Given the description of an element on the screen output the (x, y) to click on. 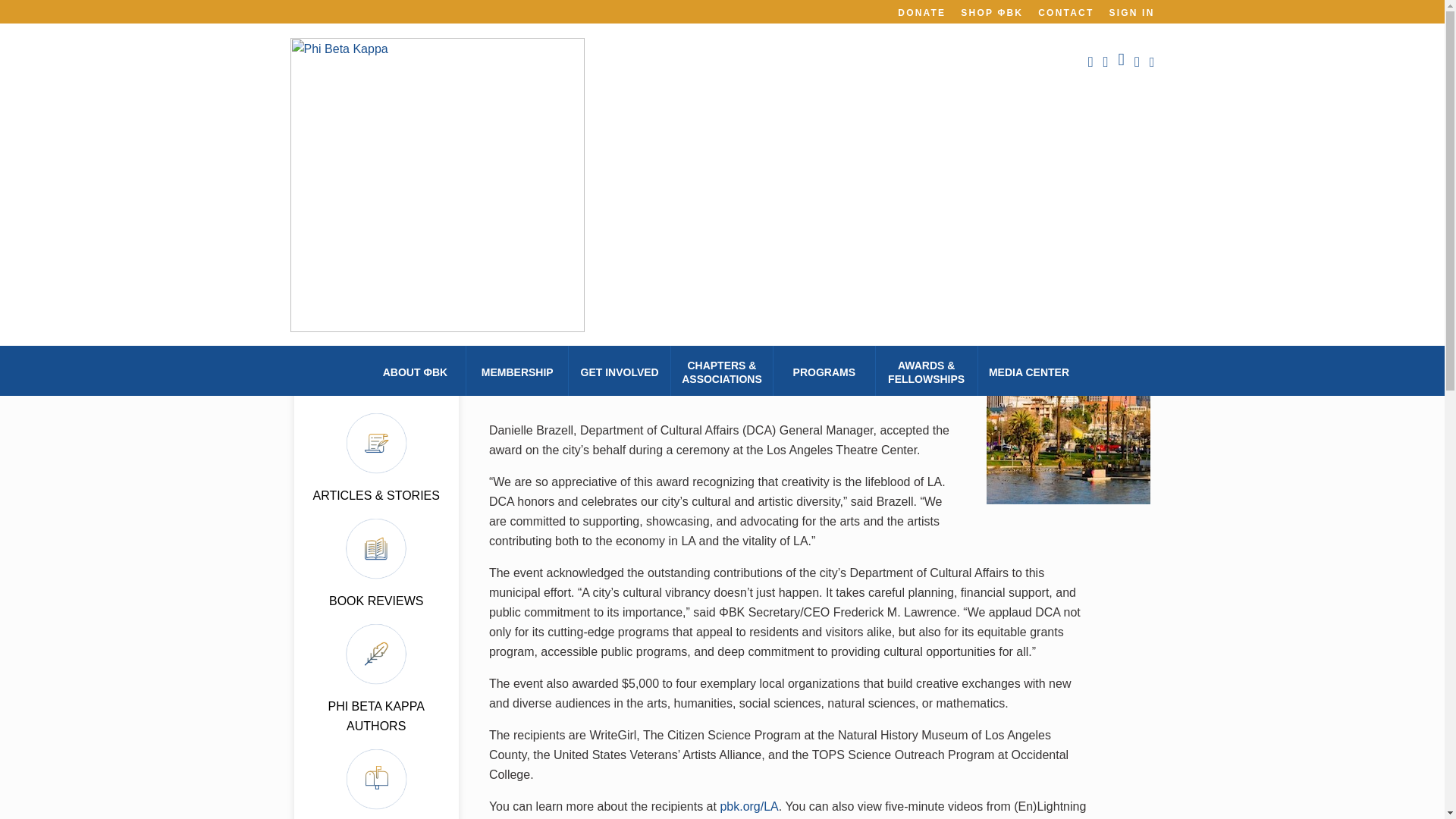
MEMBERSHIP (517, 370)
Search (385, 260)
PROGRAMS (824, 370)
SIGN IN (1131, 12)
key-reporter-logo (376, 205)
DONATE (921, 12)
GET INVOLVED (619, 370)
BOOK REVIEWS (376, 600)
CONTACT (1065, 12)
PHI BETA KAPPA AUTHORS (375, 716)
